Given the description of an element on the screen output the (x, y) to click on. 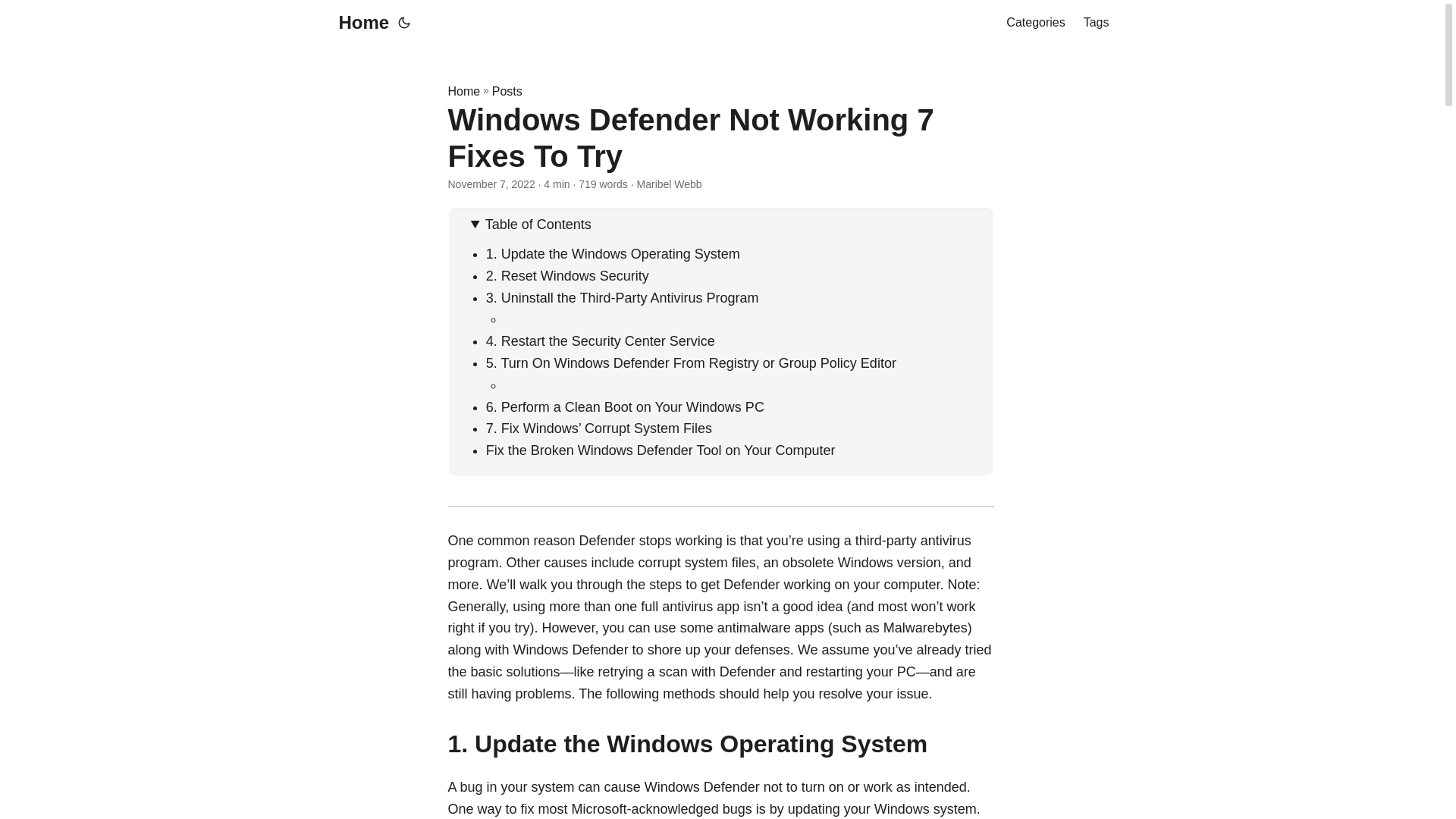
6. Perform a Clean Boot on Your Windows PC (625, 406)
1. Update the Windows Operating System (612, 253)
Categories (1035, 22)
4. Restart the Security Center Service (600, 340)
Posts (507, 91)
Home (359, 22)
Categories (1035, 22)
2. Reset Windows Security (567, 275)
Home (463, 91)
Fix the Broken Windows Defender Tool on Your Computer (660, 450)
3. Uninstall the Third-Party Antivirus Program (622, 297)
